Given the description of an element on the screen output the (x, y) to click on. 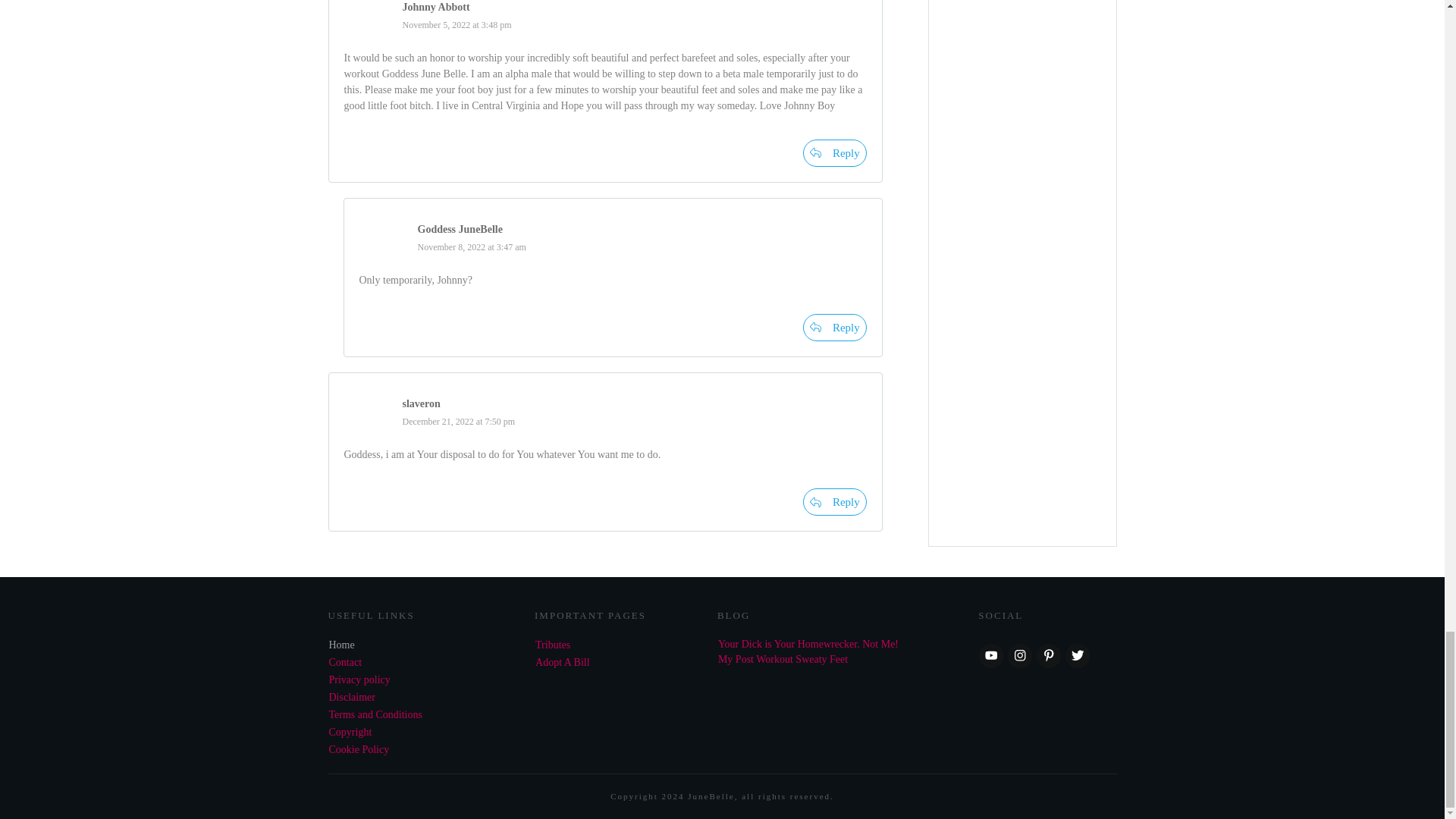
Contact (345, 662)
Cookie Policy (359, 749)
Copyright (350, 731)
Tributes (552, 644)
Home (342, 644)
Goddess JuneBelle (459, 229)
Disclaimer (352, 696)
Reply (834, 501)
Terms and Conditions (375, 714)
November 5, 2022 at 3:48 pm (456, 24)
Privacy policy (359, 679)
Reply (834, 327)
November 8, 2022 at 3:47 am (470, 246)
December 21, 2022 at 7:50 pm (458, 421)
Reply (834, 153)
